Given the description of an element on the screen output the (x, y) to click on. 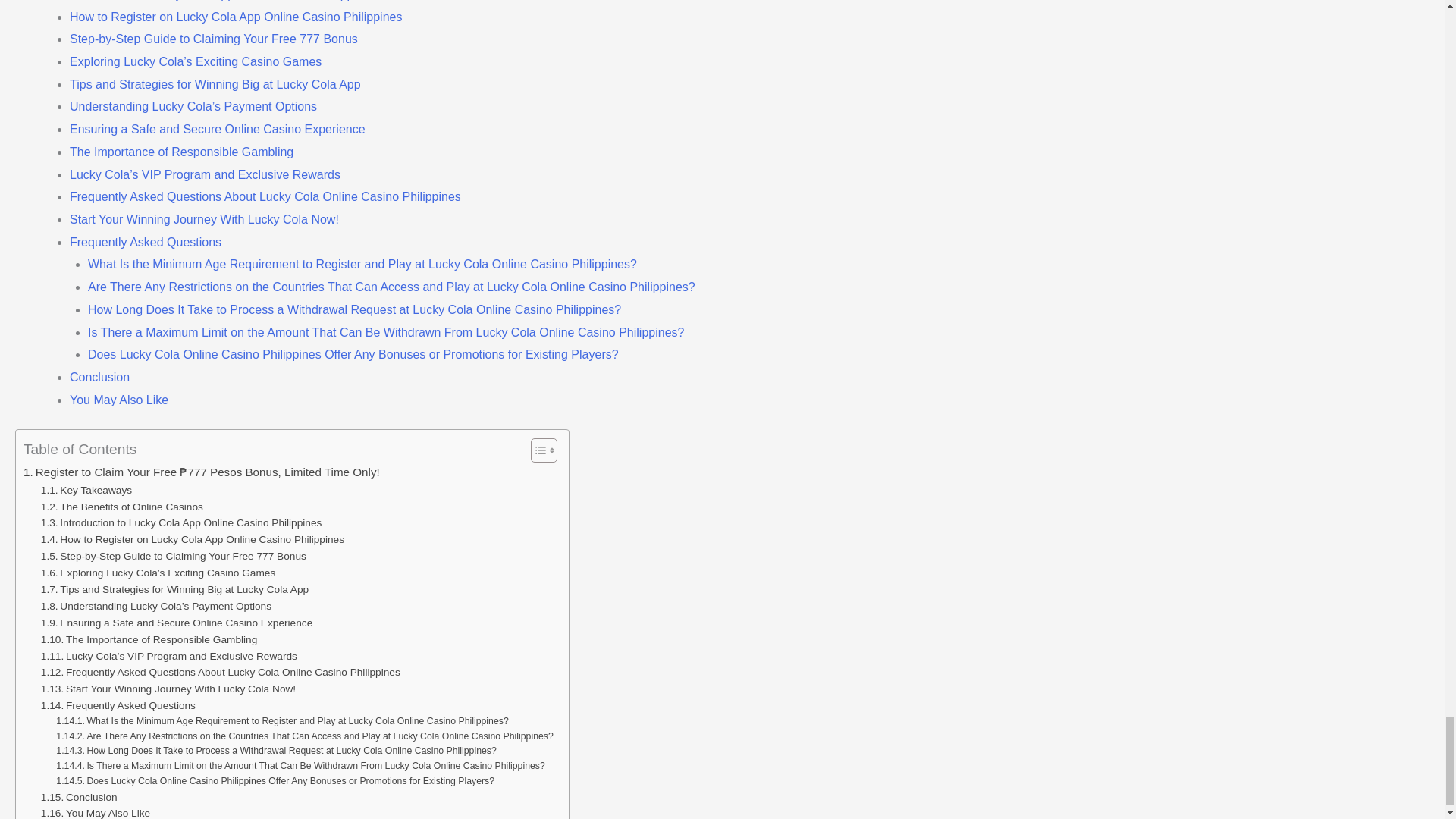
Start Your Winning Journey With Lucky Cola Now! (167, 688)
Introduction to Lucky Cola App Online Casino Philippines (180, 523)
Ensuring a Safe and Secure Online Casino Experience (176, 623)
Step-by-Step Guide to Claiming Your Free 777 Bonus (172, 556)
The Importance of Responsible Gambling (148, 639)
The Benefits of Online Casinos (121, 506)
Tips and Strategies for Winning Big at Lucky Cola App (174, 589)
How to Register on Lucky Cola App Online Casino Philippines (191, 539)
Key Takeaways (86, 490)
